Given the description of an element on the screen output the (x, y) to click on. 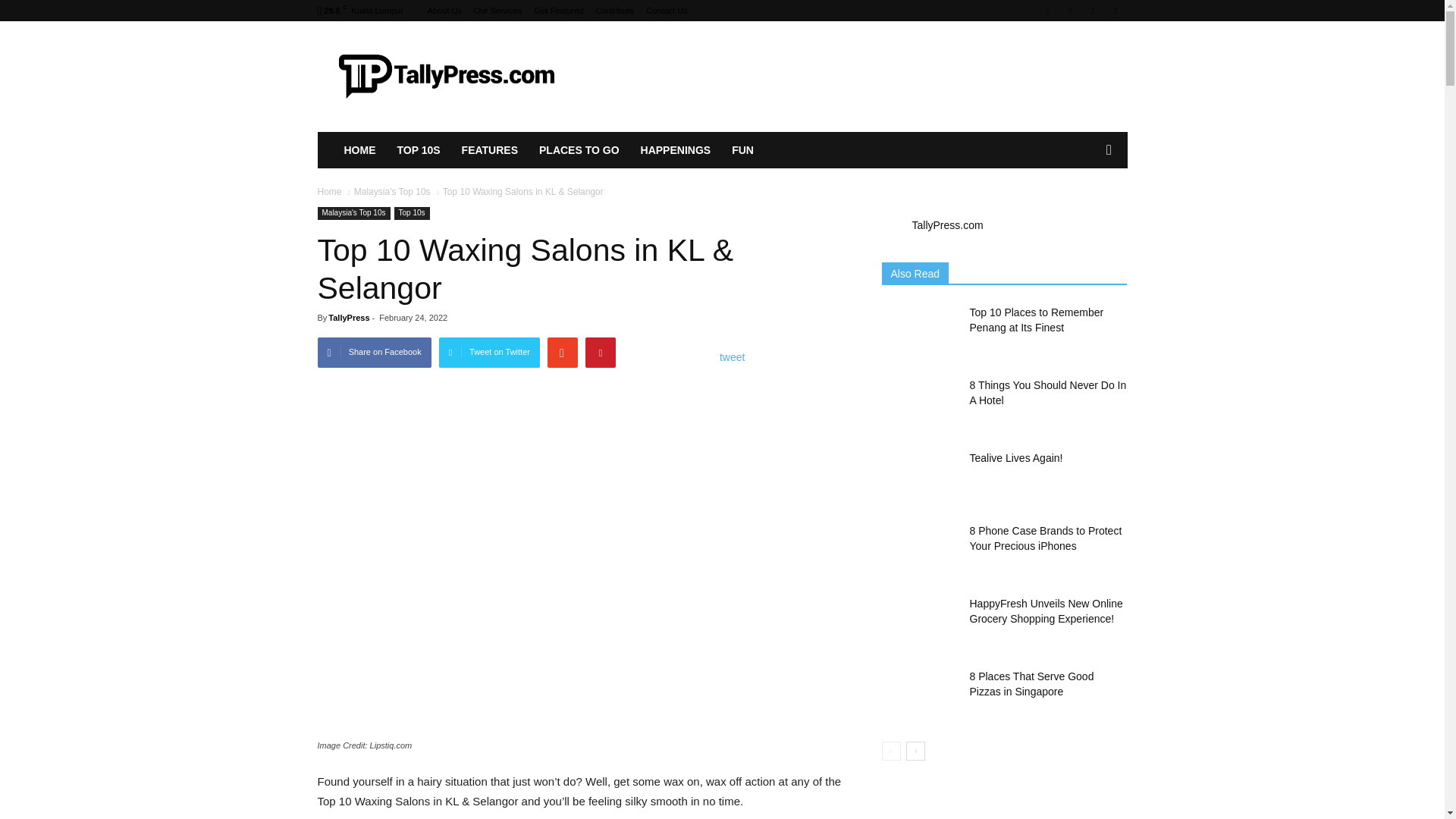
Linkedin (1092, 10)
HOME (360, 149)
Get Featured (558, 10)
Facebook (1046, 10)
About Us (444, 10)
Instagram (1069, 10)
Our Services (498, 10)
Contact Us (666, 10)
Twitter (1114, 10)
TOP 10S (419, 149)
